Given the description of an element on the screen output the (x, y) to click on. 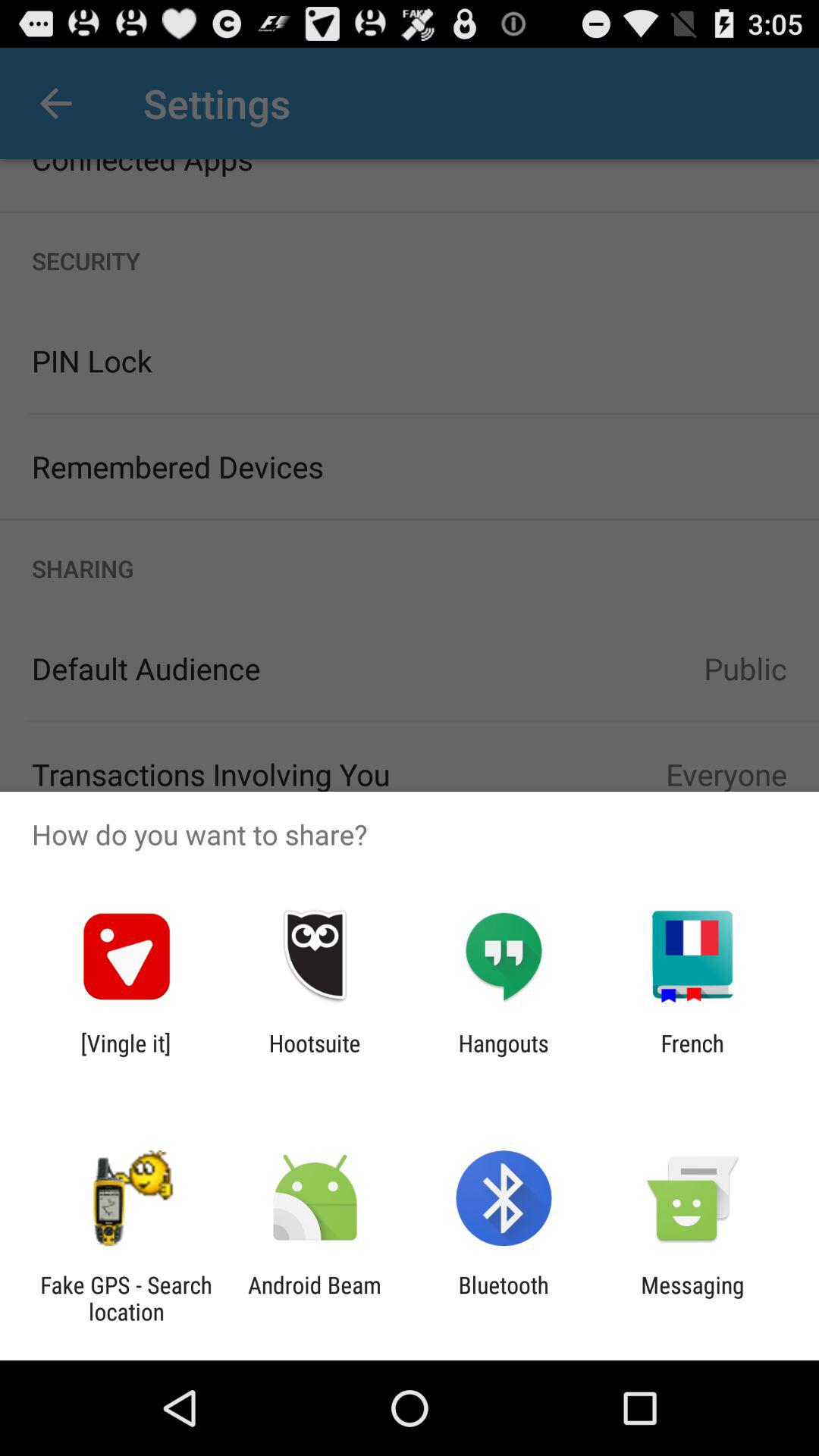
launch icon next to the hootsuite (503, 1056)
